Given the description of an element on the screen output the (x, y) to click on. 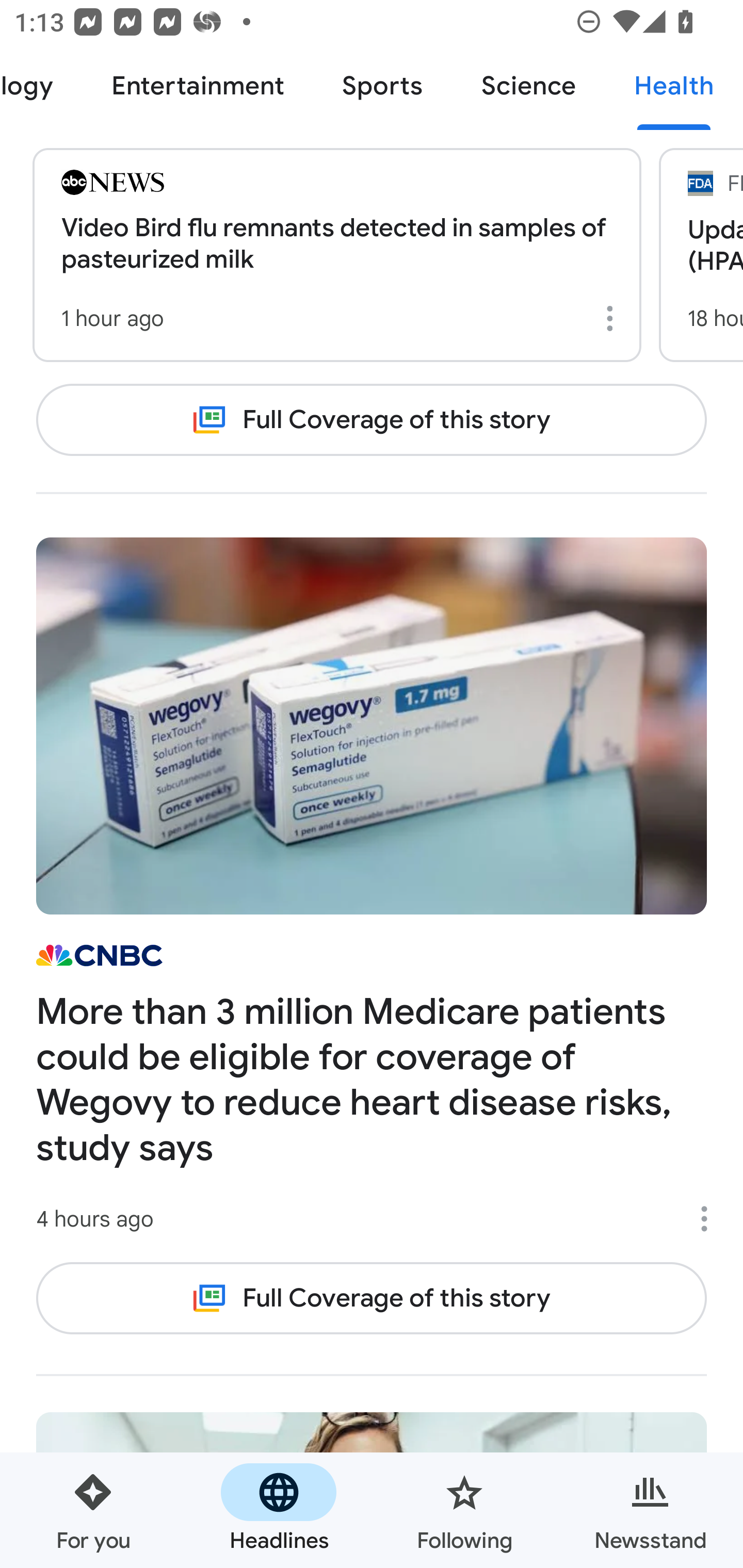
Technology (40, 86)
Entertainment (197, 86)
Sports (382, 86)
Science (527, 86)
More options (613, 317)
Full Coverage of this story (371, 420)
More options (711, 1218)
Full Coverage of this story (371, 1298)
For you (92, 1509)
Headlines (278, 1509)
Following (464, 1509)
Newsstand (650, 1509)
